Given the description of an element on the screen output the (x, y) to click on. 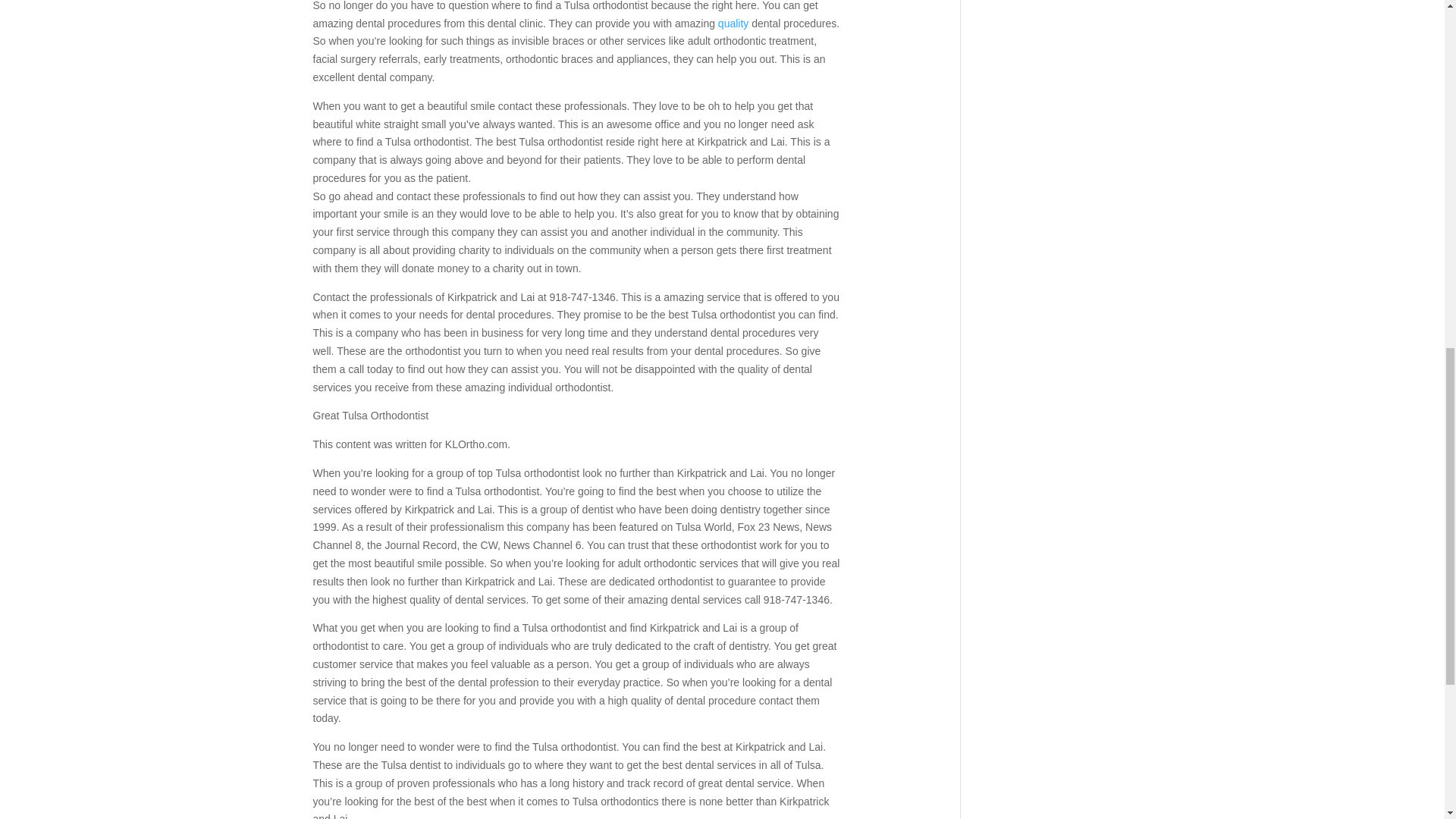
quality (734, 23)
